Given the description of an element on the screen output the (x, y) to click on. 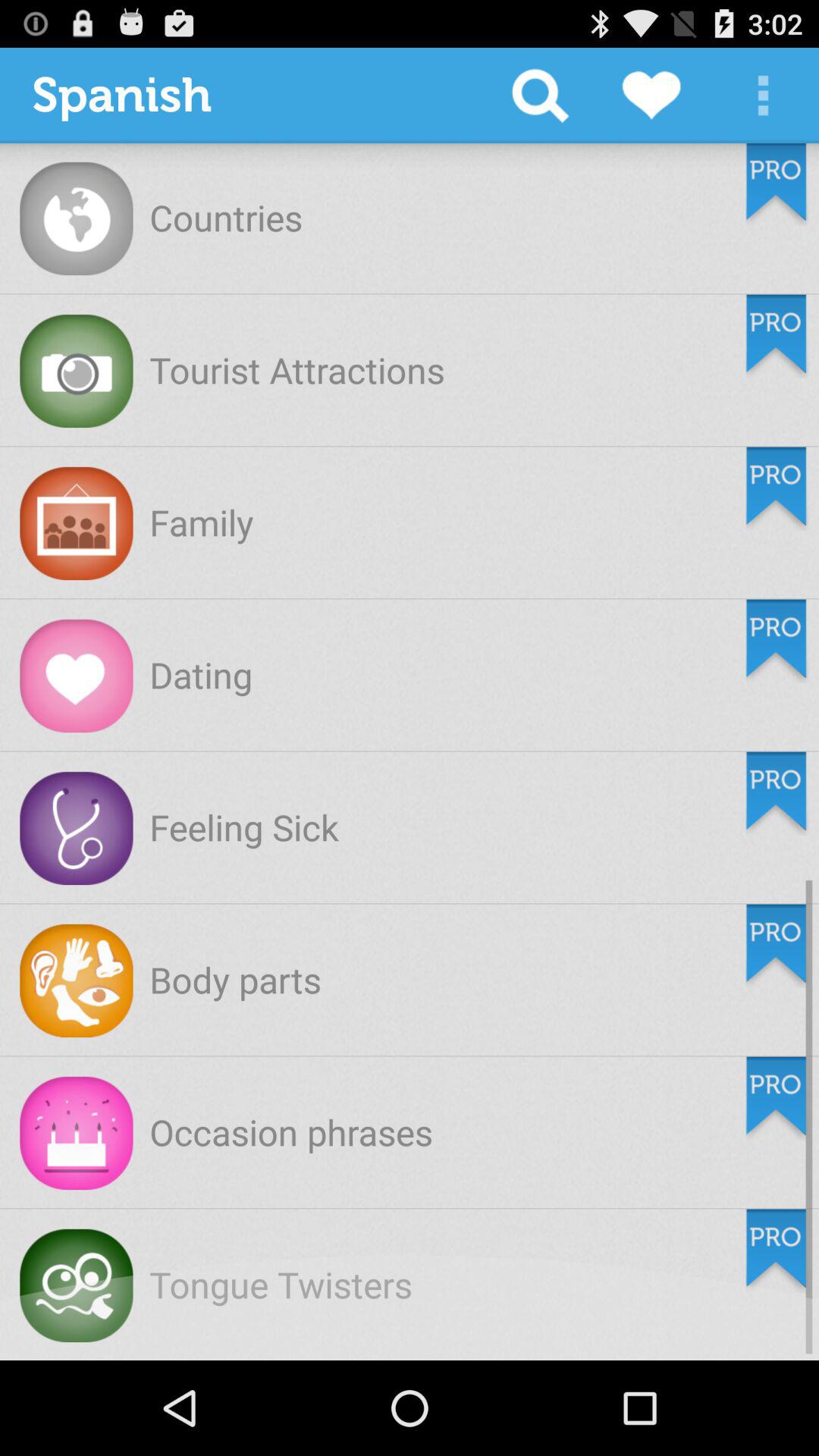
choose the occasion phrases icon (290, 1131)
